Given the description of an element on the screen output the (x, y) to click on. 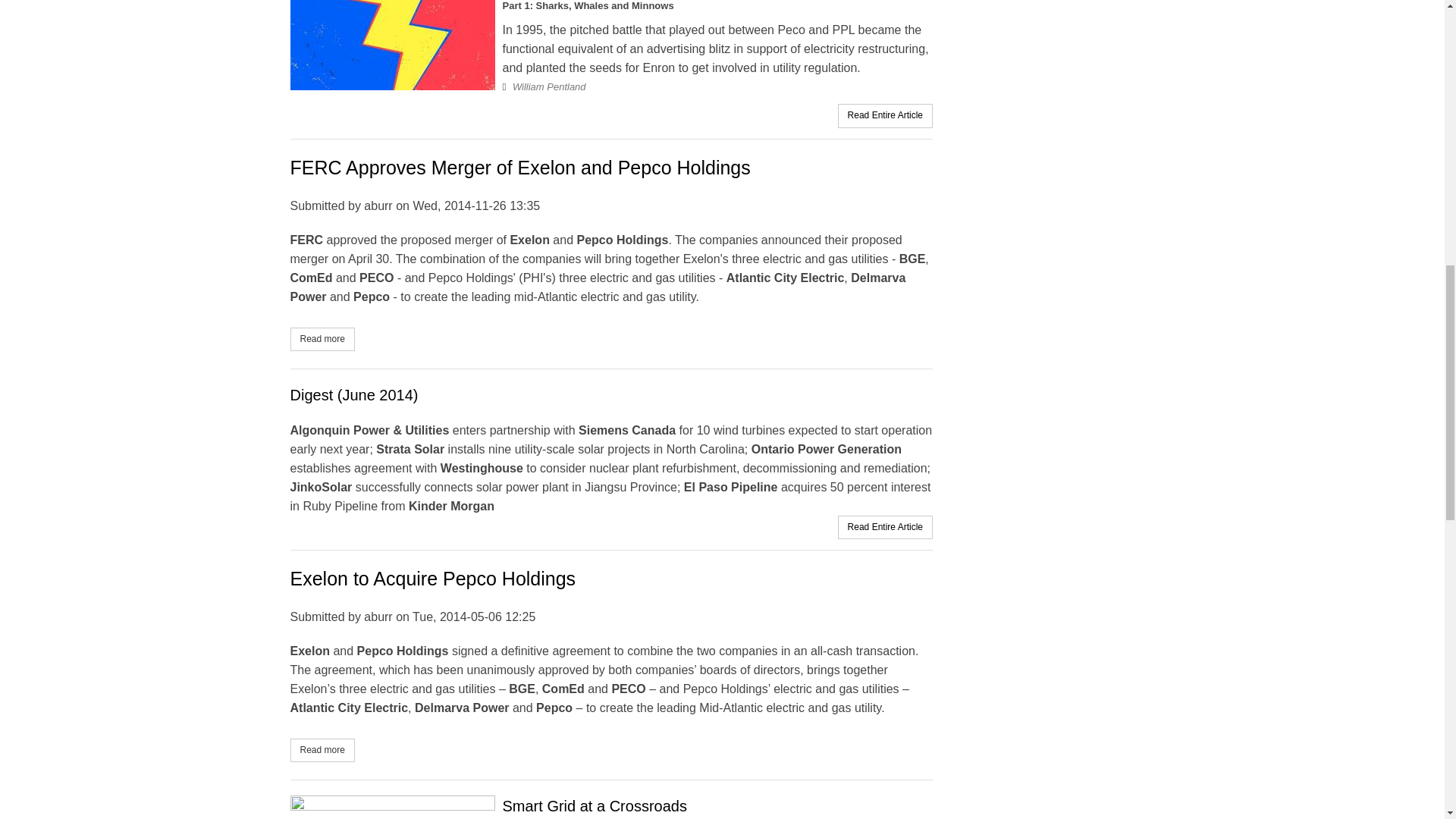
Exelon to Acquire Pepco Holdings (321, 750)
Read Entire Article (885, 526)
FERC Approves Merger of Exelon and Pepco Holdings  (321, 339)
Smart Grid at a Crossroads (593, 805)
Exelon to Acquire Pepco Holdings (432, 578)
FERC Approves Merger of Exelon and Pepco Holdings (321, 750)
Read Entire Article (519, 167)
